Given the description of an element on the screen output the (x, y) to click on. 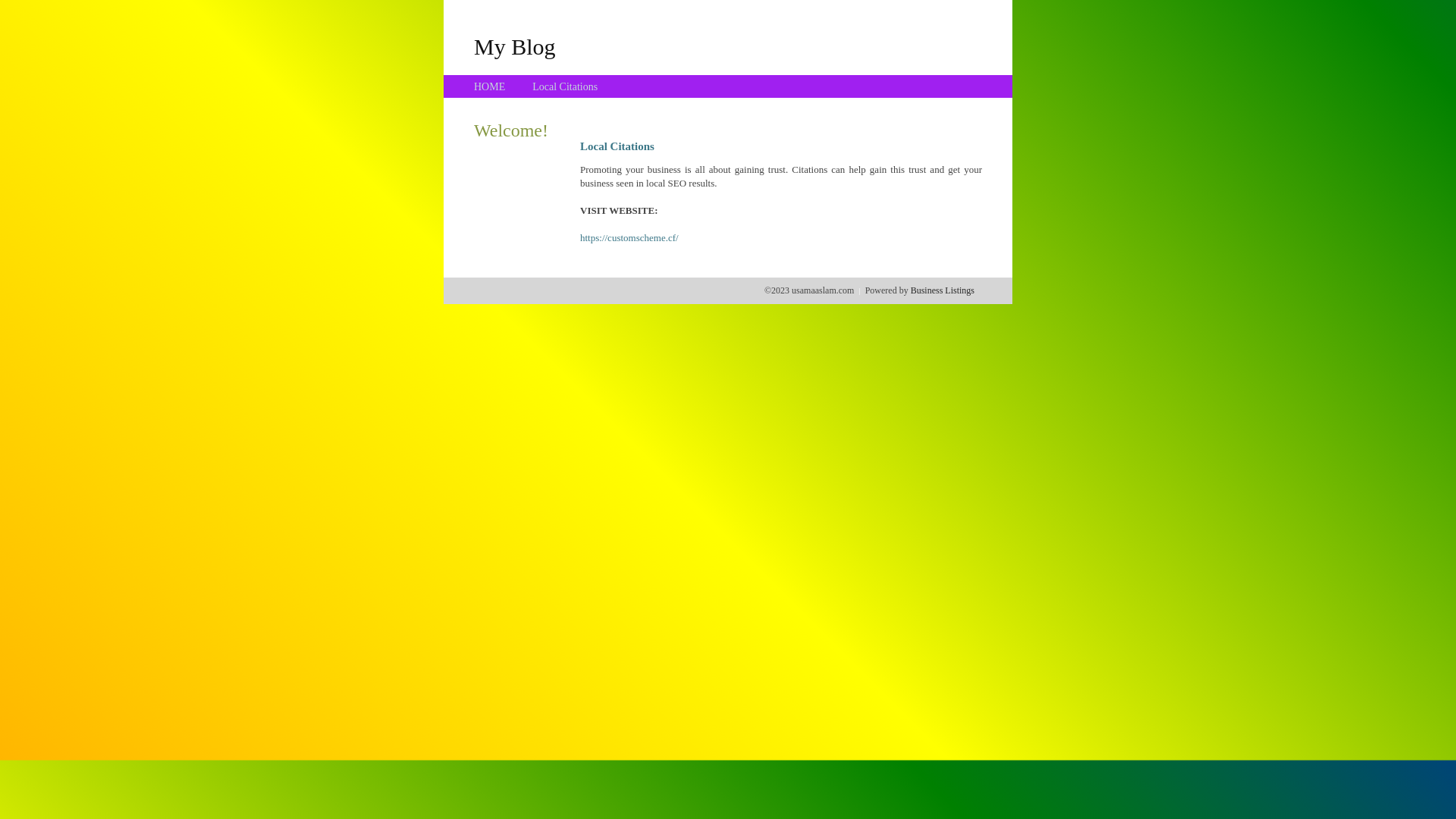
Local Citations Element type: text (564, 86)
HOME Element type: text (489, 86)
Business Listings Element type: text (942, 290)
https://customscheme.cf/ Element type: text (629, 237)
My Blog Element type: text (514, 46)
